Given the description of an element on the screen output the (x, y) to click on. 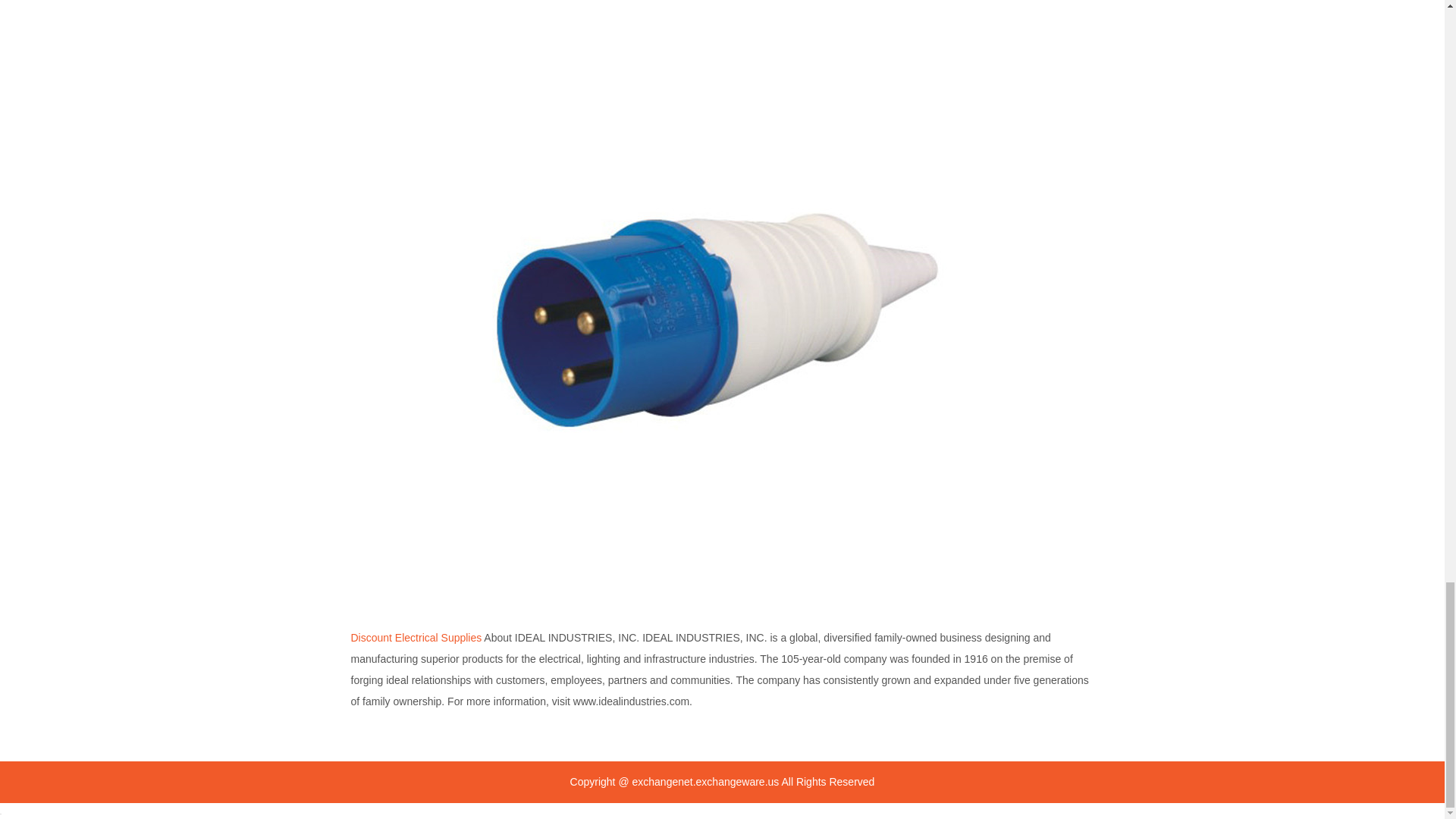
Discount Electrical Supplies (415, 637)
